Given the description of an element on the screen output the (x, y) to click on. 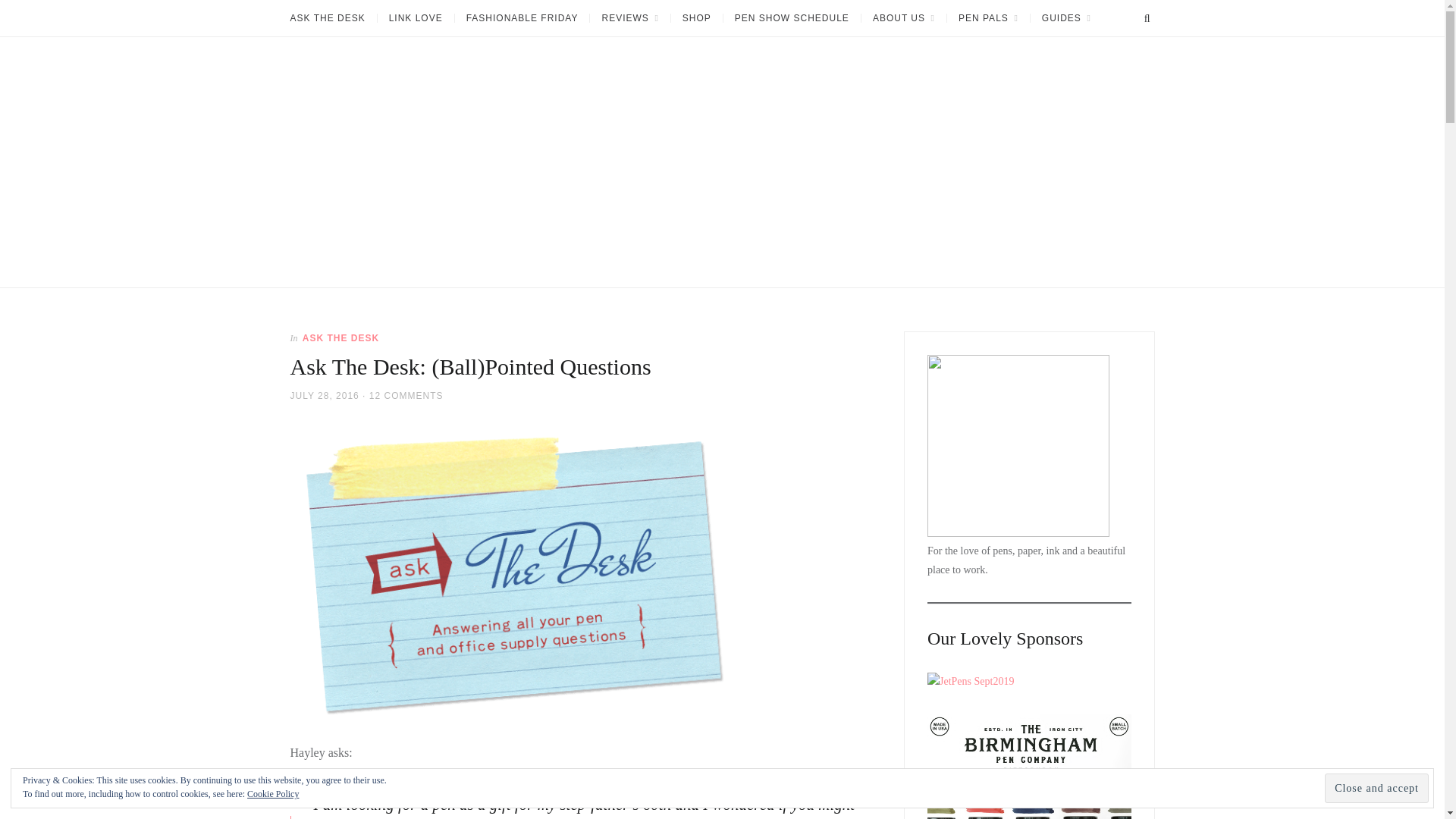
PEN SHOW SCHEDULE (791, 17)
ASK THE DESK (340, 337)
FASHIONABLE FRIDAY (521, 17)
ABOUT US (903, 17)
PEN PALS (987, 17)
12 COMMENTS (406, 394)
JULY 28, 2016 (323, 394)
The Well-Appointed Desk (346, 292)
SHOP (695, 17)
Close and accept (1376, 788)
